Given the description of an element on the screen output the (x, y) to click on. 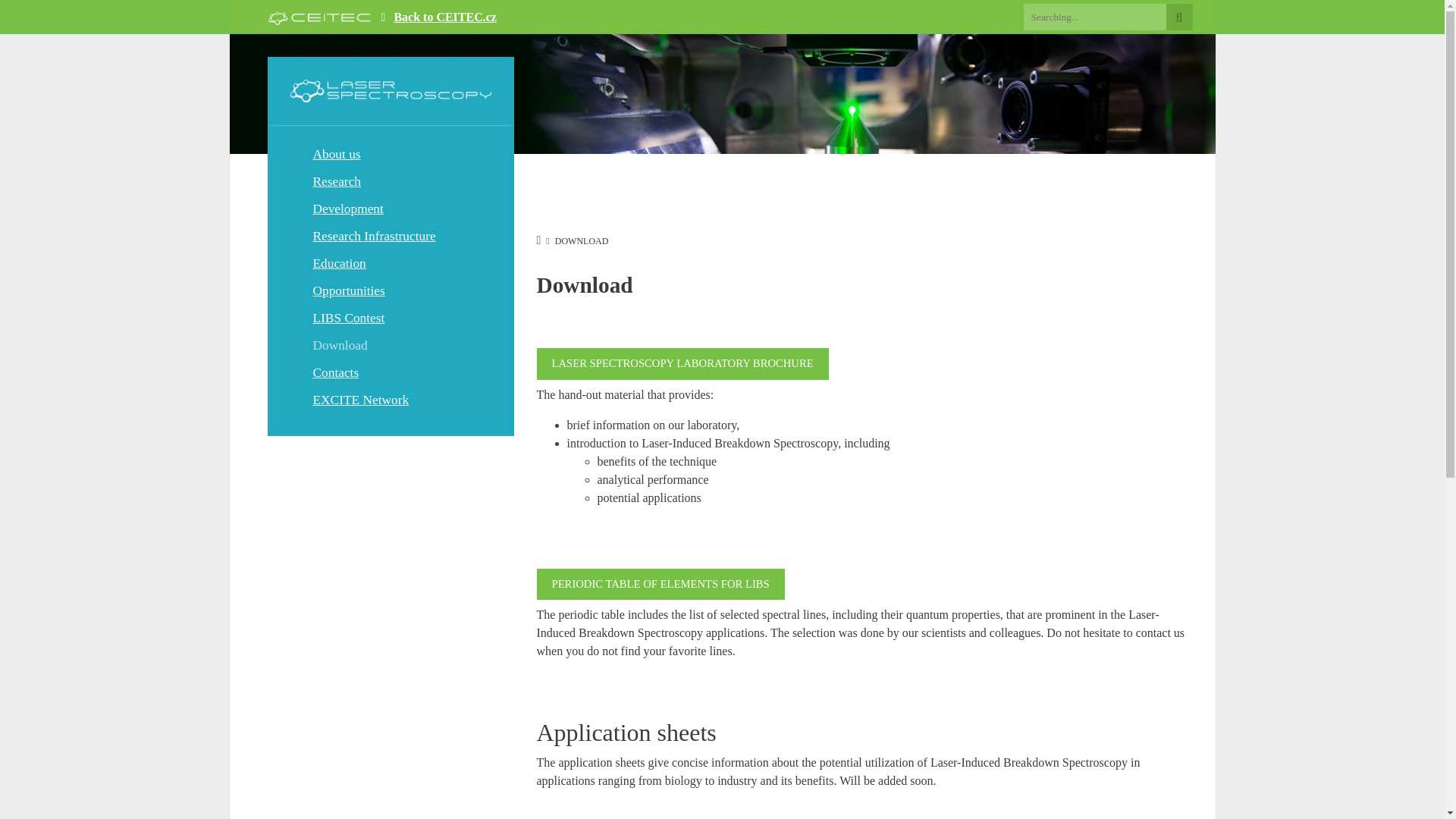
Opportunities (389, 290)
Development (389, 208)
EXCITE Network (389, 400)
Education (389, 263)
Contacts (389, 372)
LASER SPECTROSCOPY LABORATORY BROCHURE (682, 364)
About us (389, 154)
Odeslat (1179, 17)
DOWNLOAD (581, 240)
LIBS Contest (389, 318)
Back to CEITEC.cz (444, 16)
Research (389, 181)
PERIODIC TABLE OF ELEMENTS FOR LIBS (660, 584)
Research Infrastructure (389, 236)
Download (389, 345)
